Given the description of an element on the screen output the (x, y) to click on. 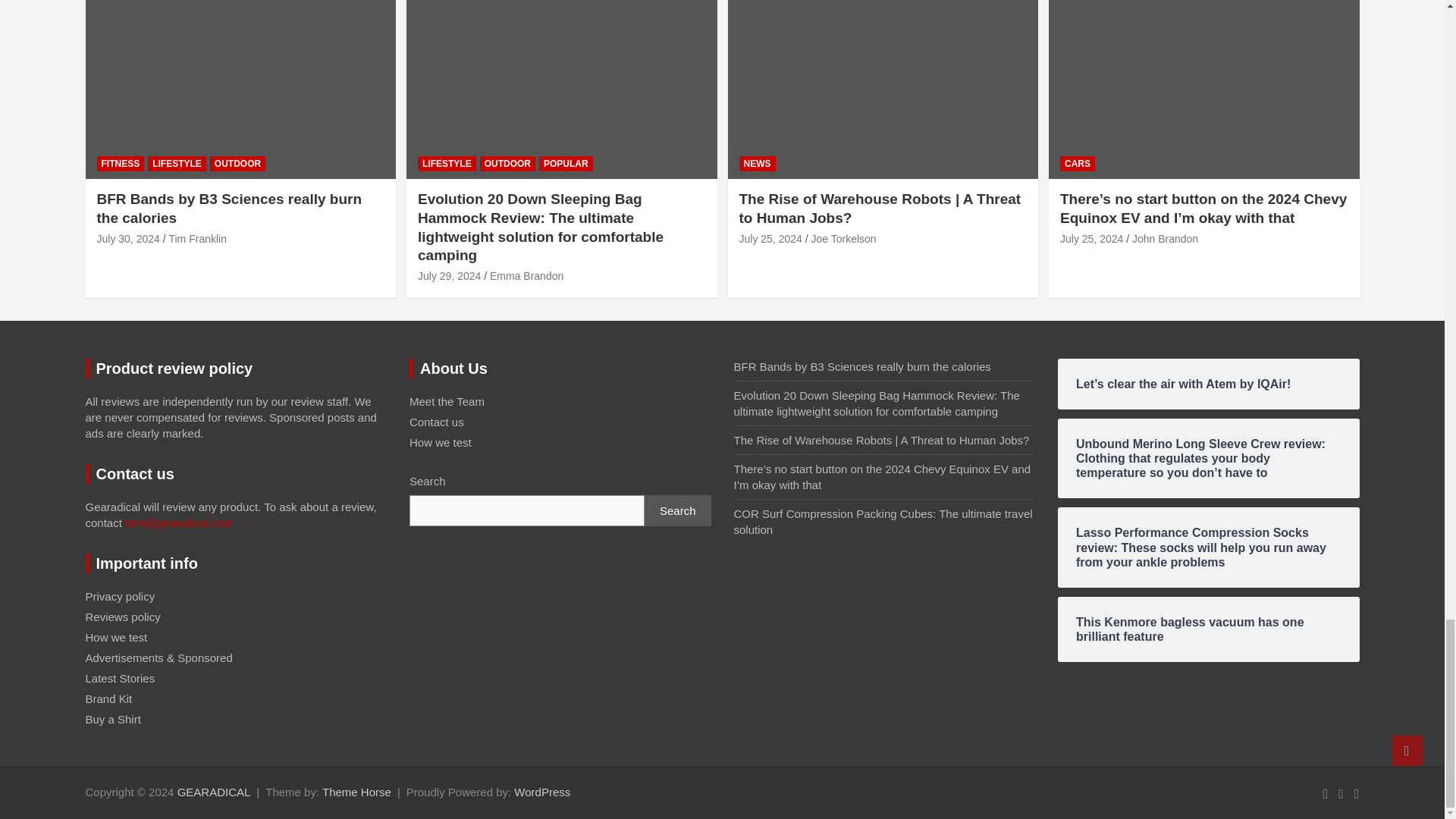
Theme Horse (356, 791)
WordPress (541, 791)
GEARADICAL (213, 791)
BFR Bands by B3 Sciences really burn the calories (128, 238)
